Given the description of an element on the screen output the (x, y) to click on. 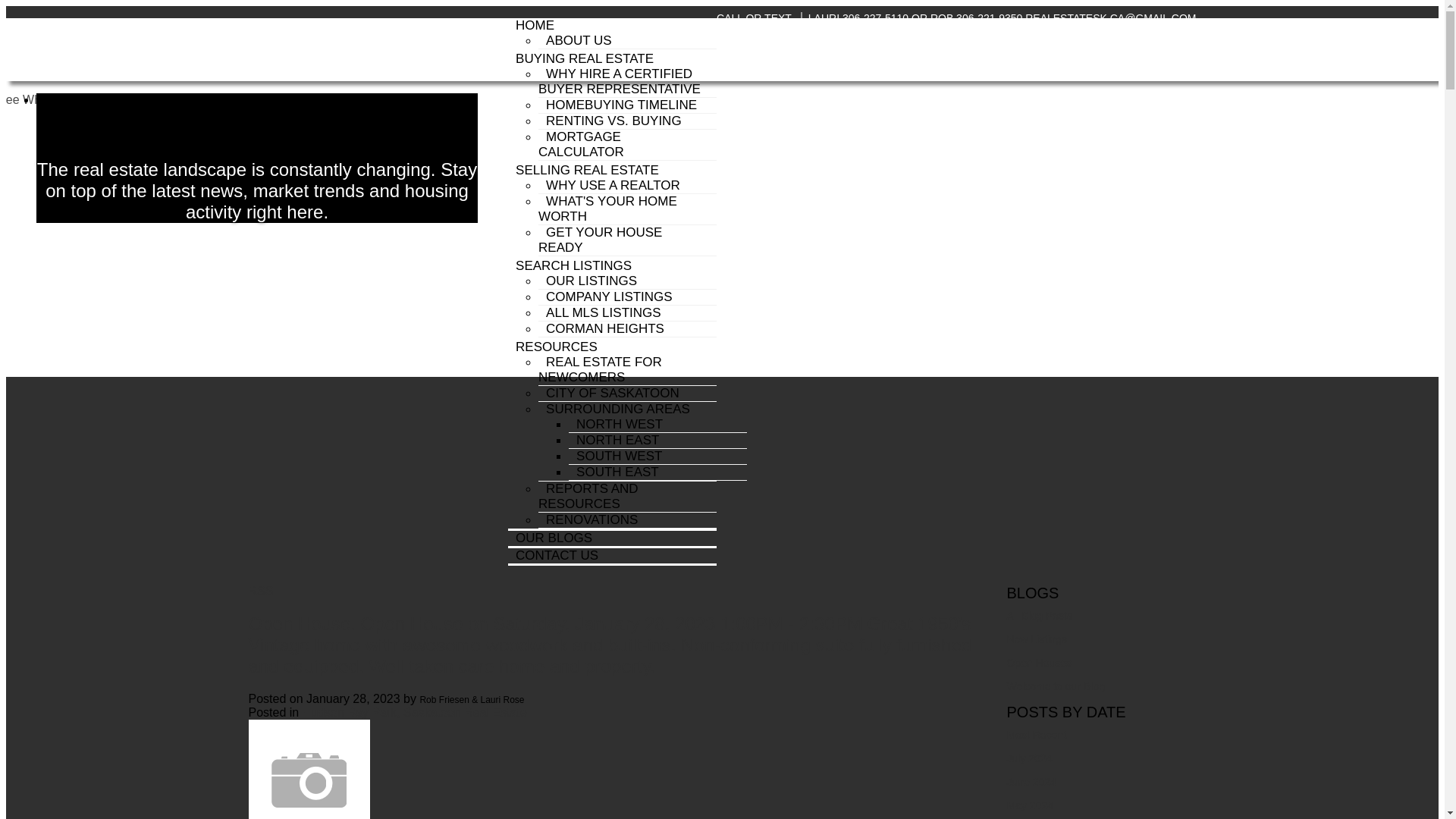
WHY USE A REALTOR (612, 185)
SURROUNDING AREAS (617, 408)
NORTH WEST (619, 424)
CORMAN HEIGHTS (604, 328)
HOME (535, 27)
Read full post (616, 769)
SEARCH LISTINGS (573, 265)
MORTGAGE CALCULATOR (584, 143)
WHAT'S YOUR HOME WORTH (607, 208)
NORTH EAST (617, 439)
RENTING VS. BUYING (613, 120)
REPORTS AND RESOURCES (588, 496)
SOUTH EAST (617, 471)
BUYING REAL ESTATE (584, 58)
ABOUT US (579, 40)
